Given the description of an element on the screen output the (x, y) to click on. 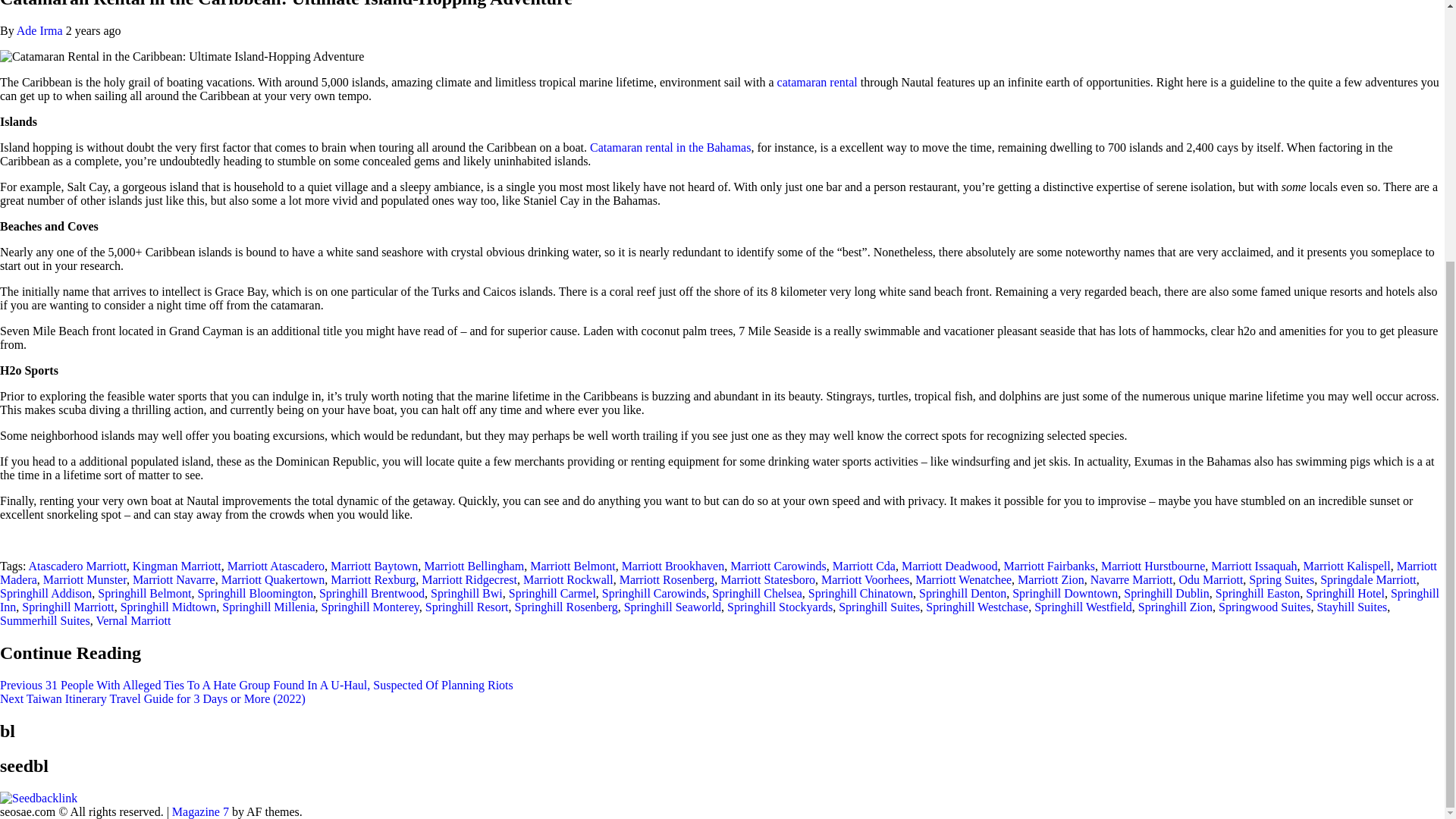
Marriott Brookhaven (673, 565)
Kingman Marriott (176, 565)
Marriott Baytown (373, 565)
Marriott Munster (84, 579)
Catamaran rental in the Bahamas (670, 146)
Marriott Madera (718, 572)
Marriott Belmont (571, 565)
Marriott Deadwood (949, 565)
Ade Irma (40, 30)
